Given the description of an element on the screen output the (x, y) to click on. 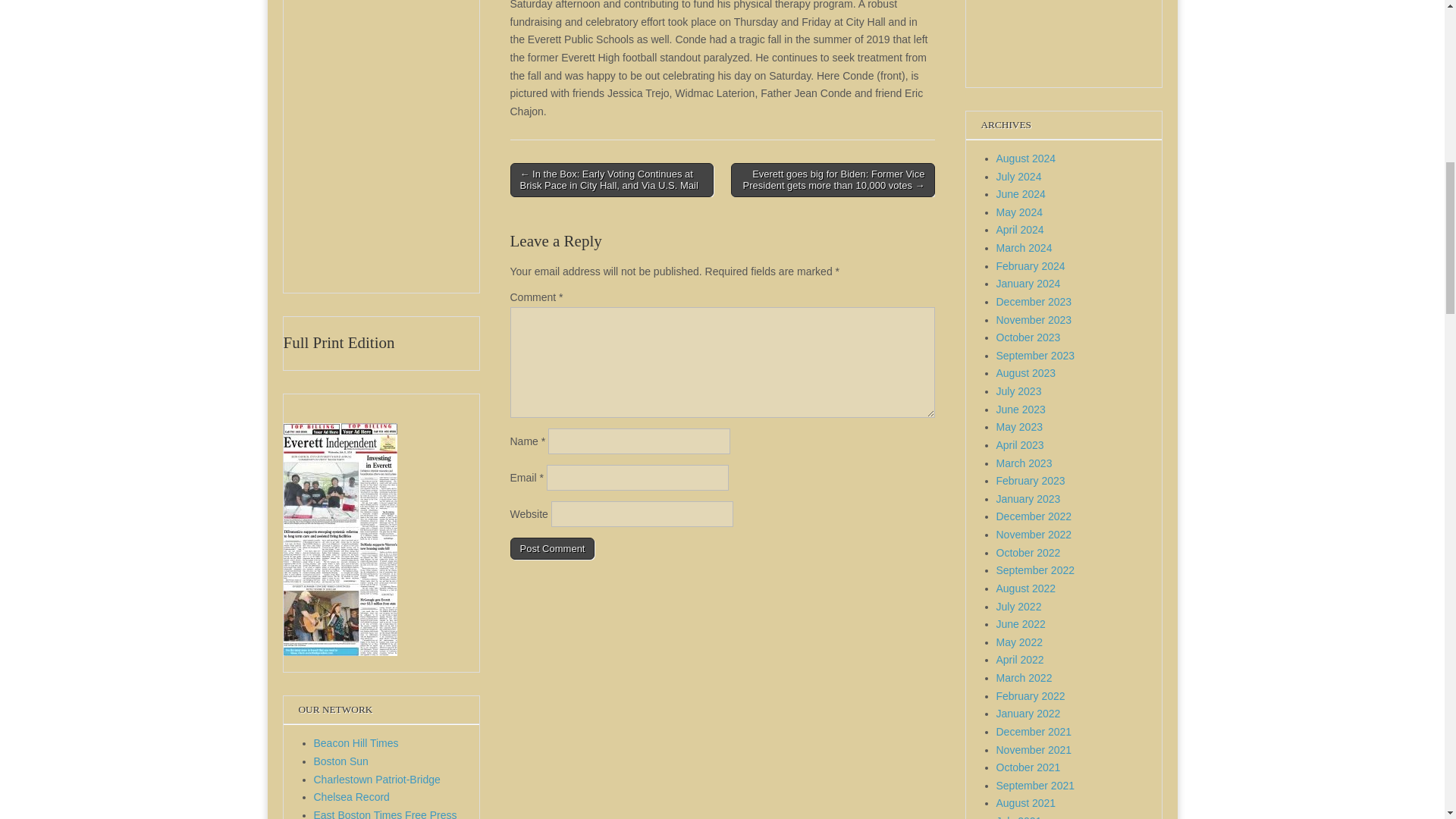
Post Comment (551, 548)
Beacon Hill Times (356, 743)
Chelsea Record (352, 797)
Post Comment (551, 548)
East Boston Times Free Press (385, 814)
Charlestown Patriot-Bridge (377, 779)
Boston Sun (341, 761)
